Given the description of an element on the screen output the (x, y) to click on. 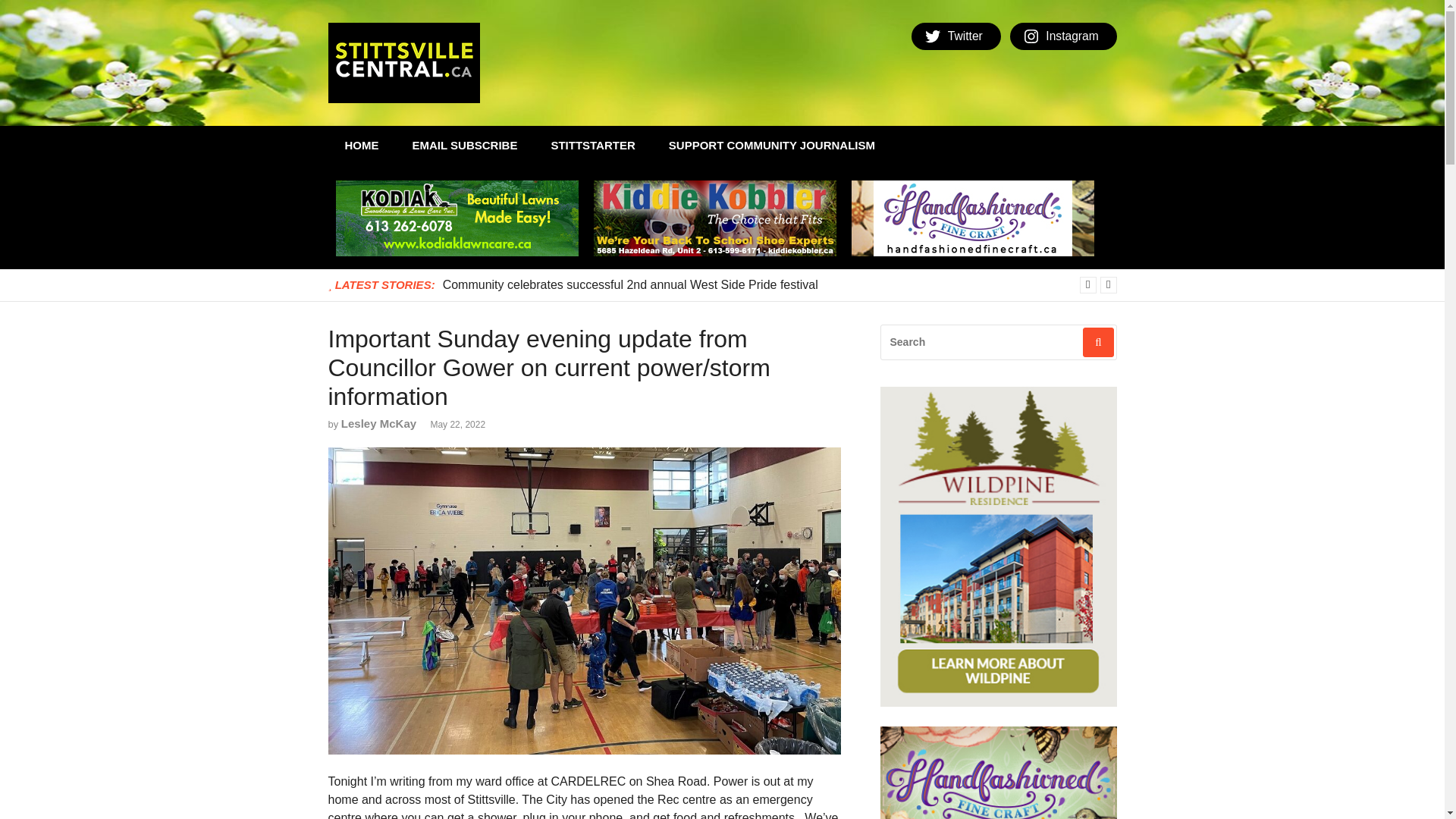
Lesley McKay (378, 422)
SUPPORT COMMUNITY JOURNALISM (771, 146)
EMAIL SUBSCRIBE (465, 146)
Instagram (1063, 35)
Twitter (956, 35)
HOME (360, 146)
STITTSTARTER (592, 146)
